Given the description of an element on the screen output the (x, y) to click on. 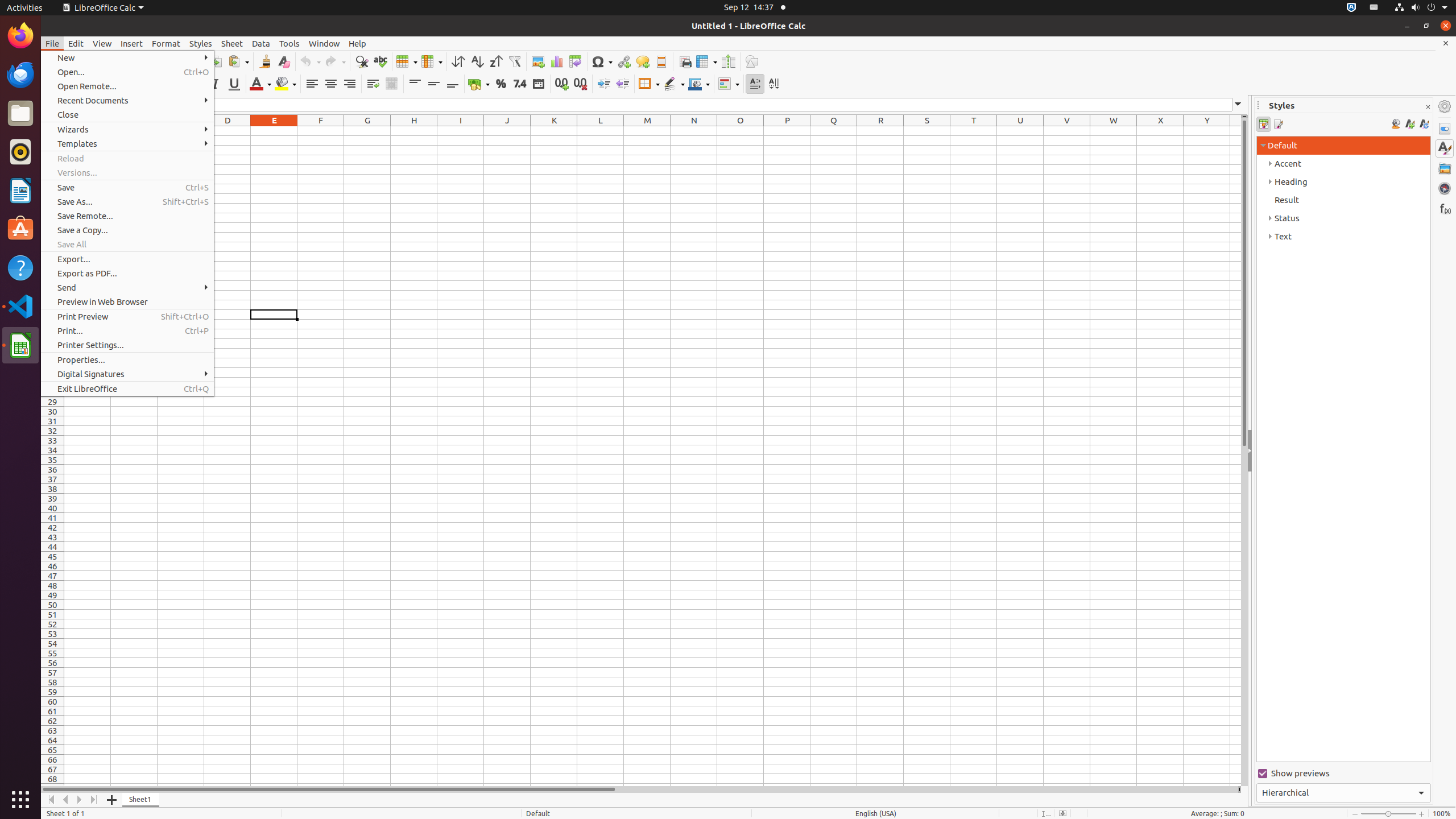
Sort Descending Element type: push-button (495, 61)
Insert Element type: menu (131, 43)
Save As... Element type: menu-item (126, 201)
Vertical scroll bar Element type: scroll-bar (1244, 451)
LibreOffice Calc Element type: menu (102, 7)
